Given the description of an element on the screen output the (x, y) to click on. 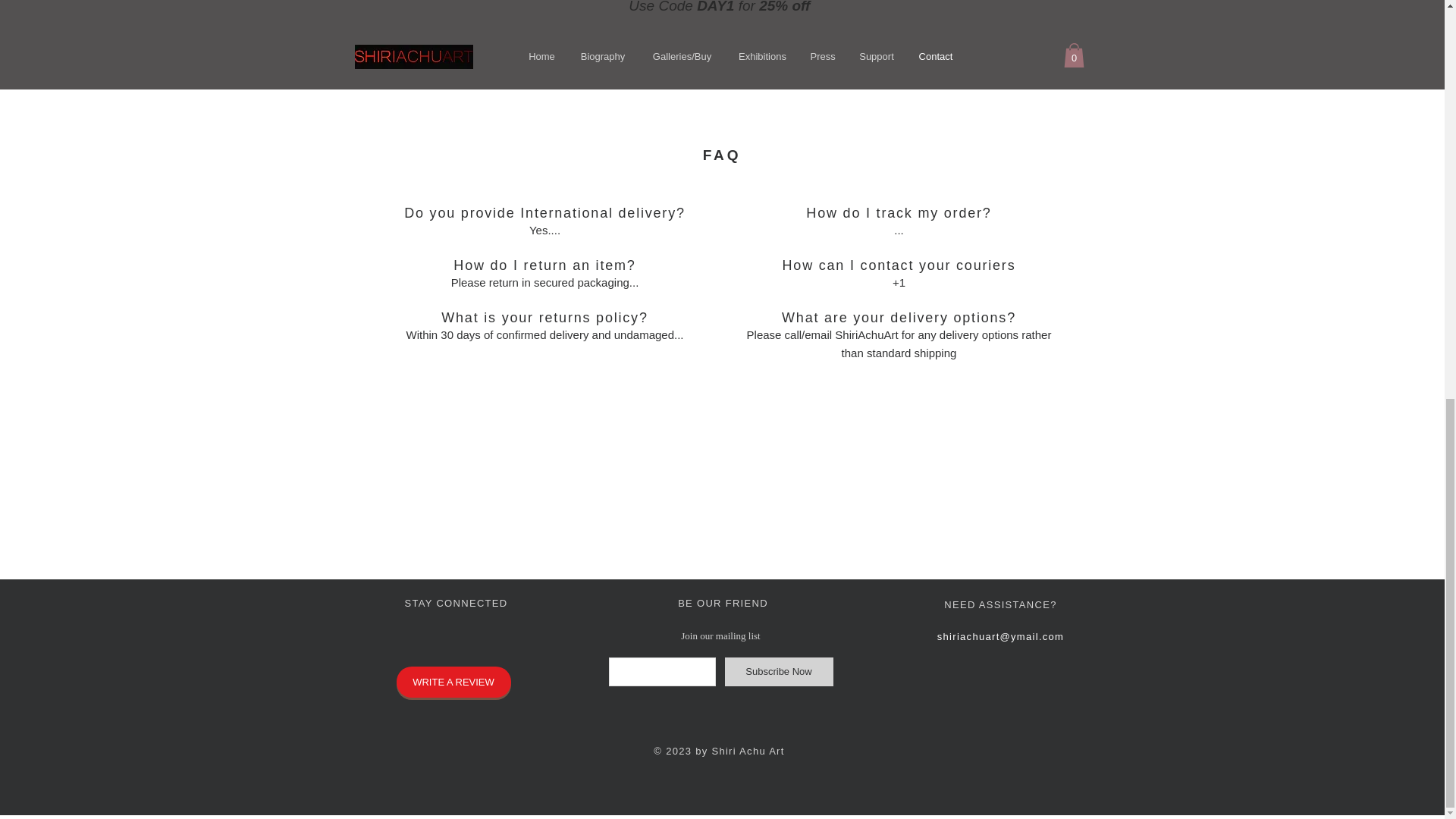
Subscribe Now (778, 671)
WRITE A REVIEW (453, 681)
